Given the description of an element on the screen output the (x, y) to click on. 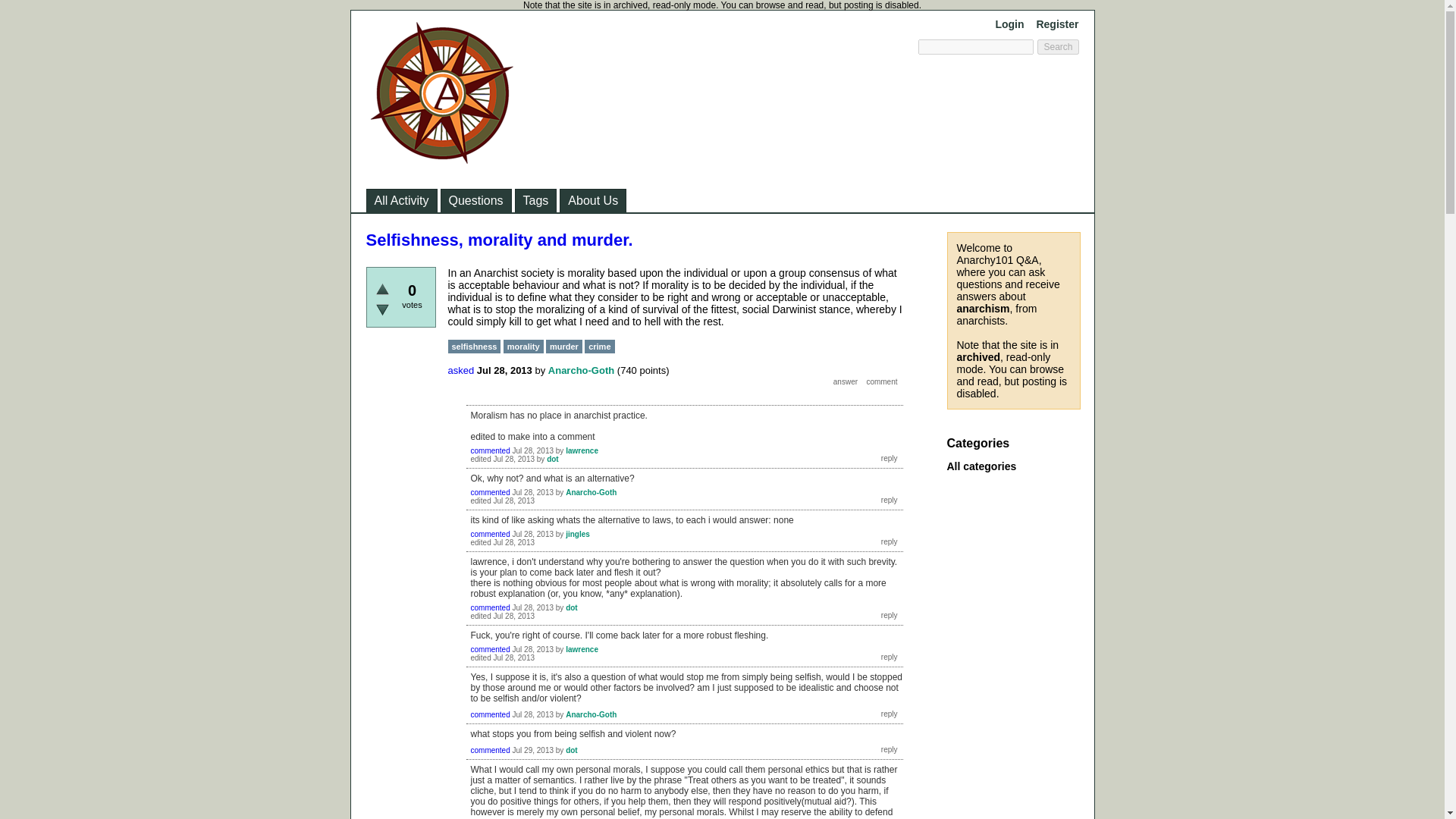
reply (889, 614)
selfishness (473, 345)
Questions (476, 200)
reply (889, 458)
Add a comment on this question (881, 381)
commented (489, 533)
All categories (981, 466)
reply (889, 500)
dot (553, 459)
crime (599, 345)
reply (889, 749)
commented (489, 607)
Reply to this comment (889, 542)
Reply to this comment (889, 500)
morality (523, 345)
